Given the description of an element on the screen output the (x, y) to click on. 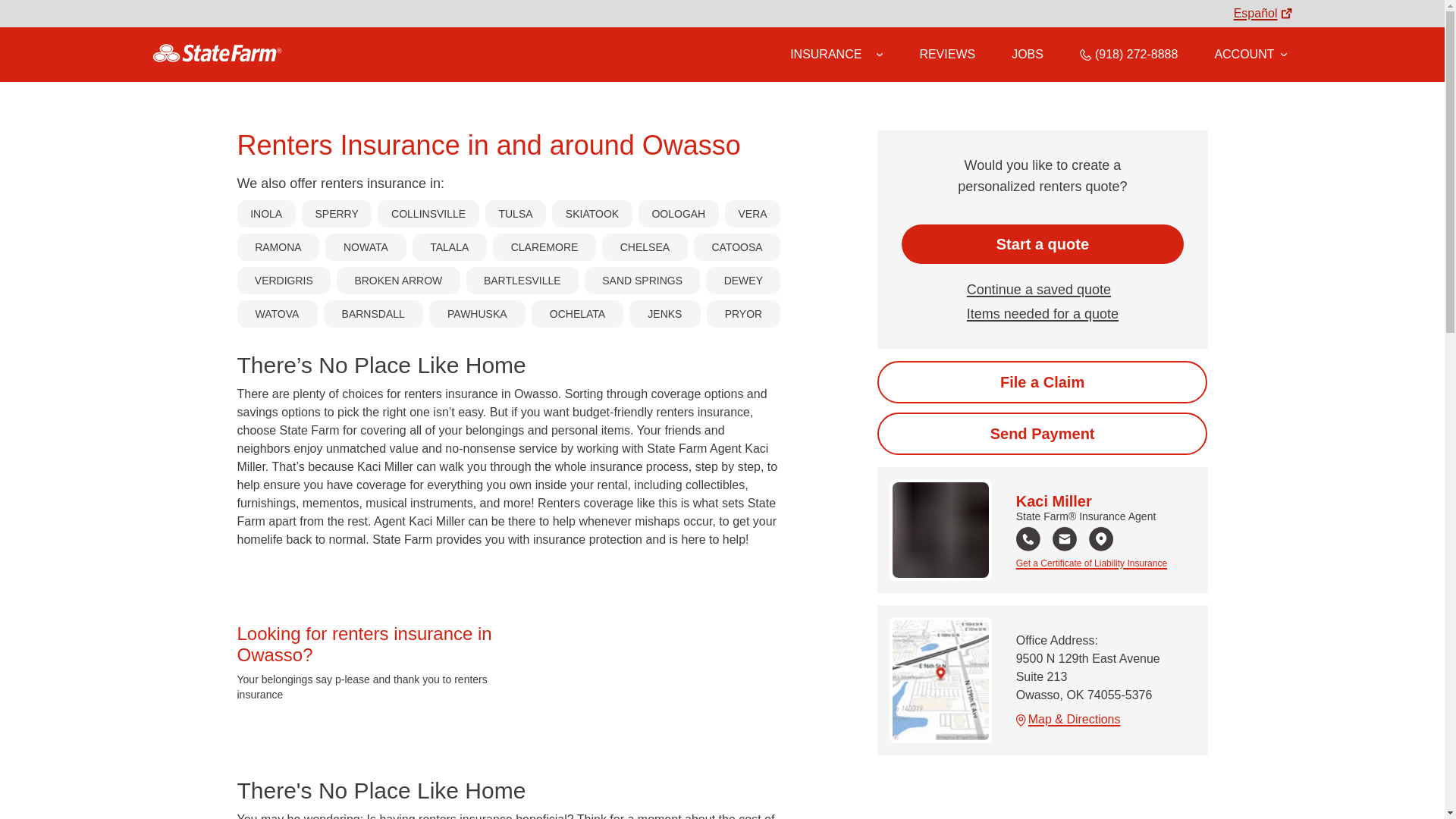
REVIEWS (946, 54)
ACCOUNT (1250, 54)
Account Options (1250, 54)
JOBS (1027, 54)
Insurance (836, 54)
INSURANCE (825, 54)
Start the claim process online (1042, 382)
